Given the description of an element on the screen output the (x, y) to click on. 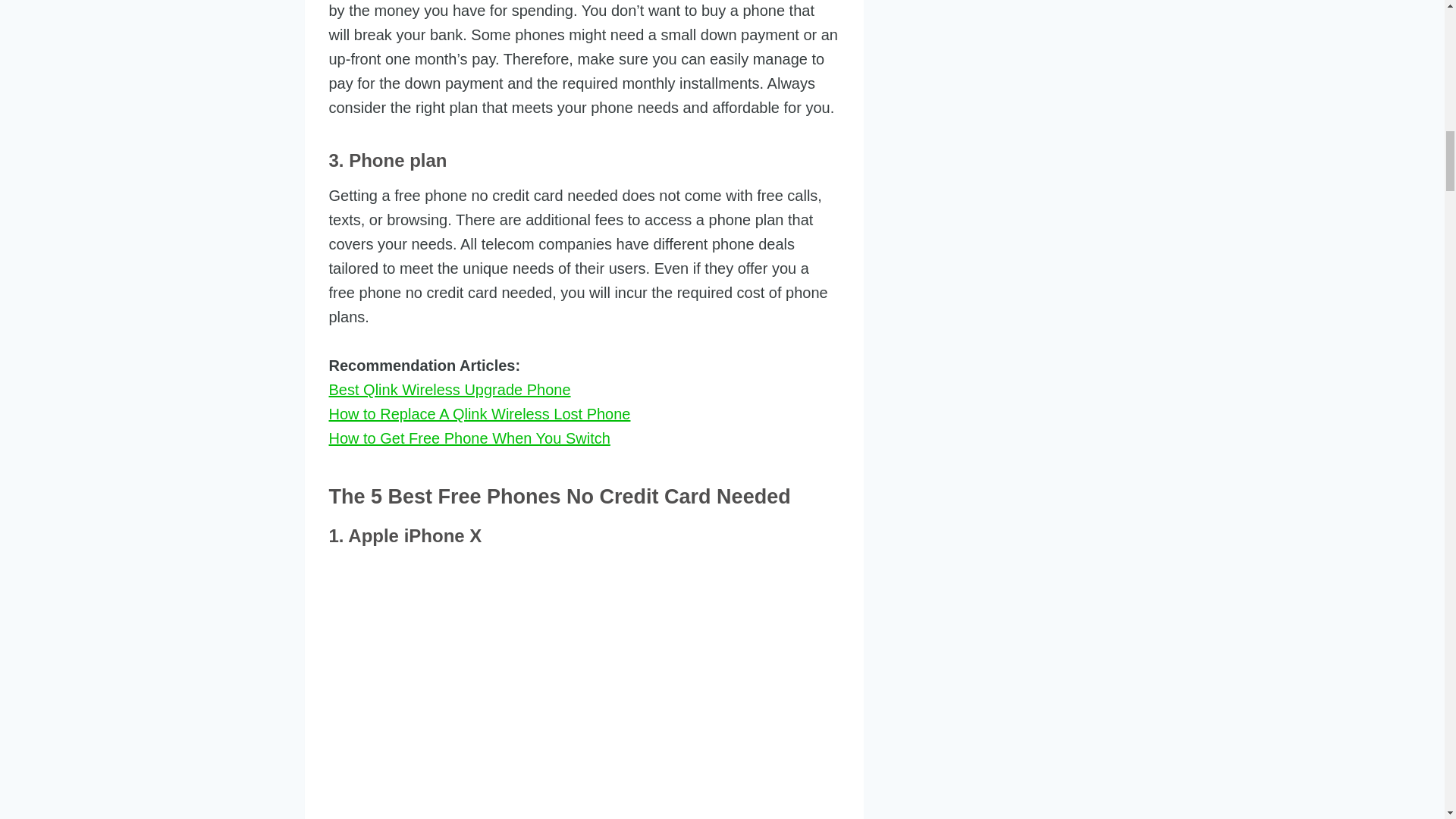
How to Get Free Phone When You Switch (469, 437)
Best Qlink Wireless Upgrade Phone (449, 389)
How to Replace A Qlink Wireless Lost Phone (479, 413)
